Given the description of an element on the screen output the (x, y) to click on. 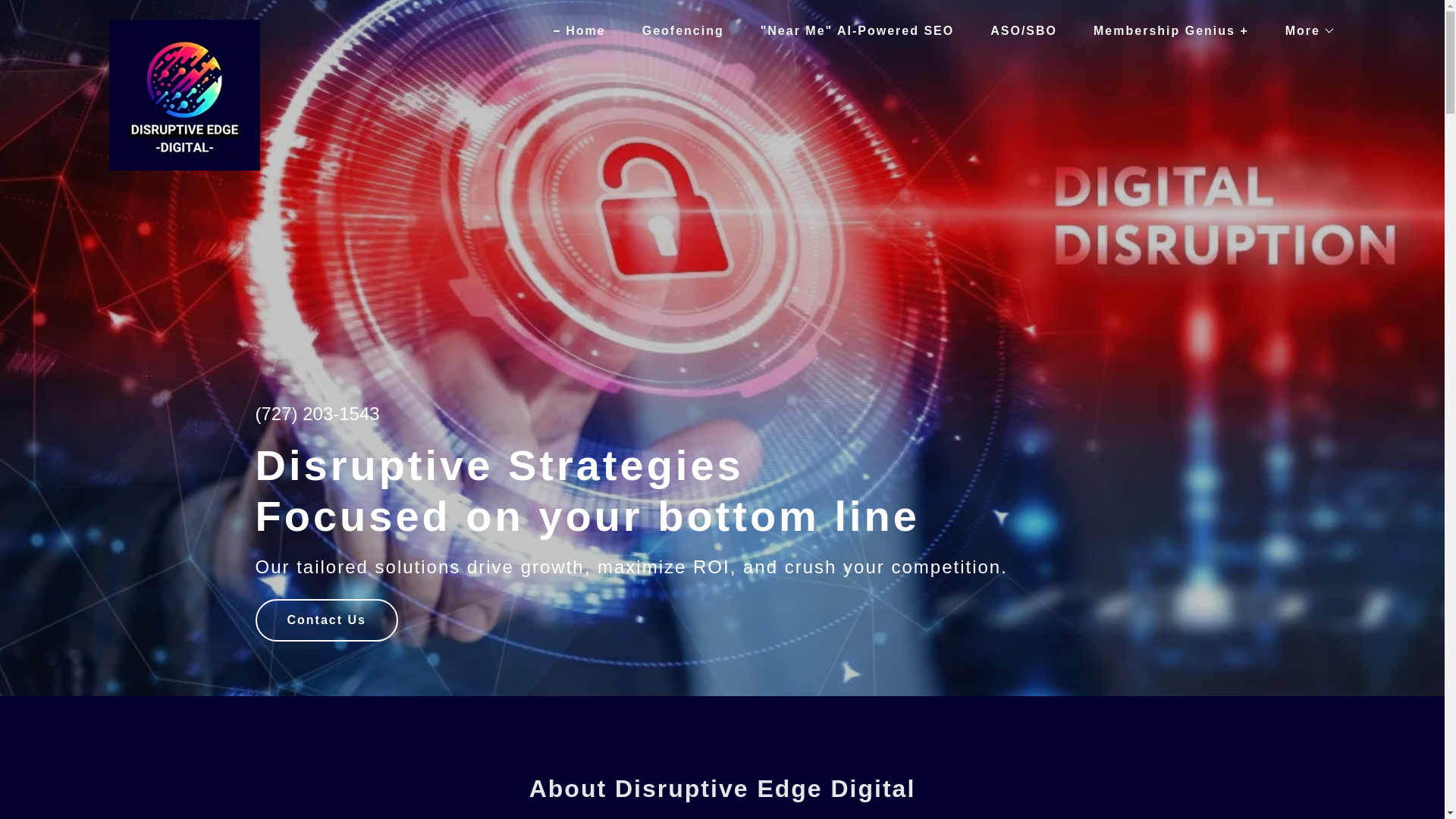
Contact Us (325, 619)
"Near Me" AI-Powered SEO (851, 31)
More (1303, 31)
Home (579, 31)
Geofencing (677, 31)
